Given the description of an element on the screen output the (x, y) to click on. 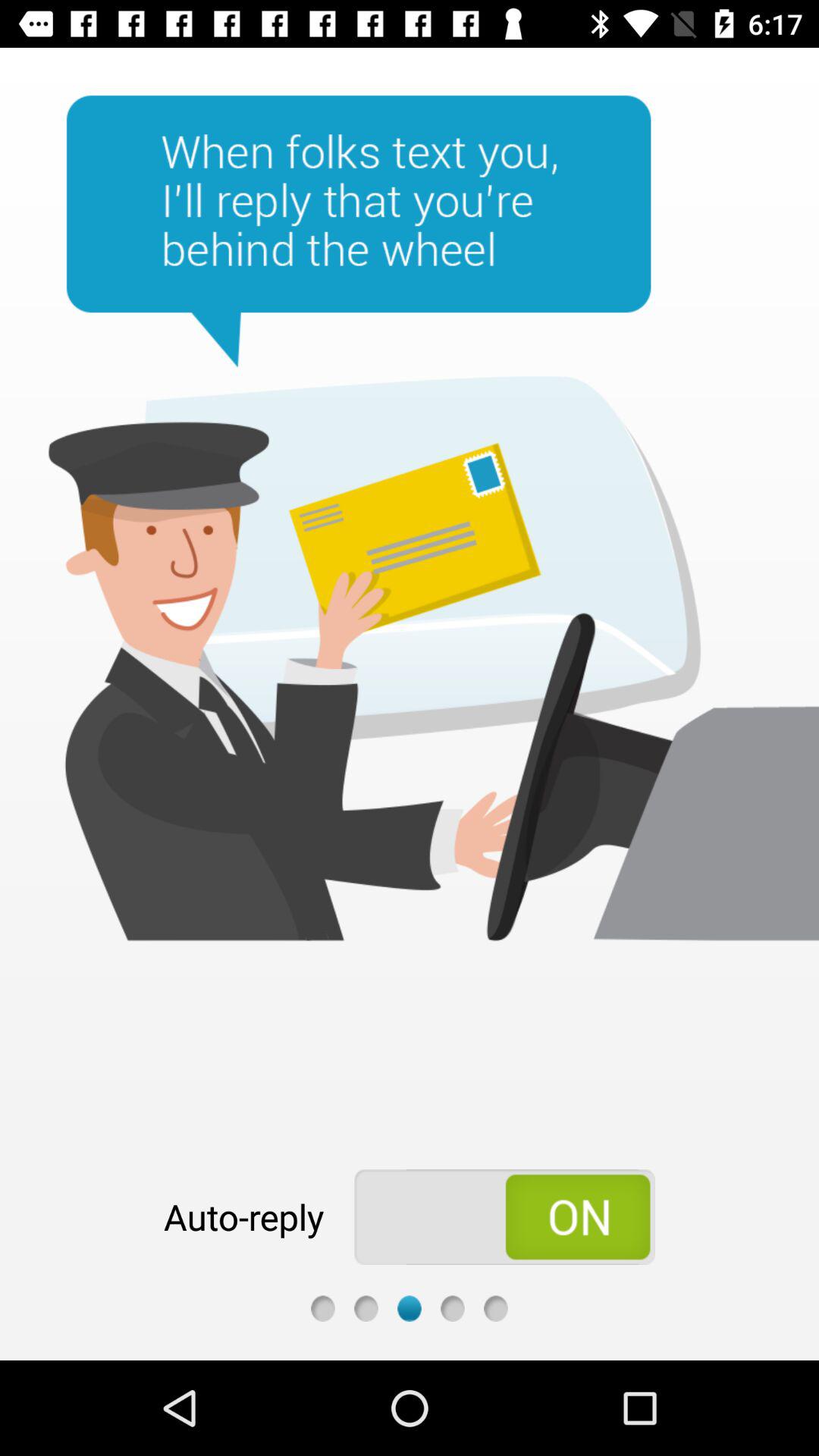
go back (322, 1308)
